Given the description of an element on the screen output the (x, y) to click on. 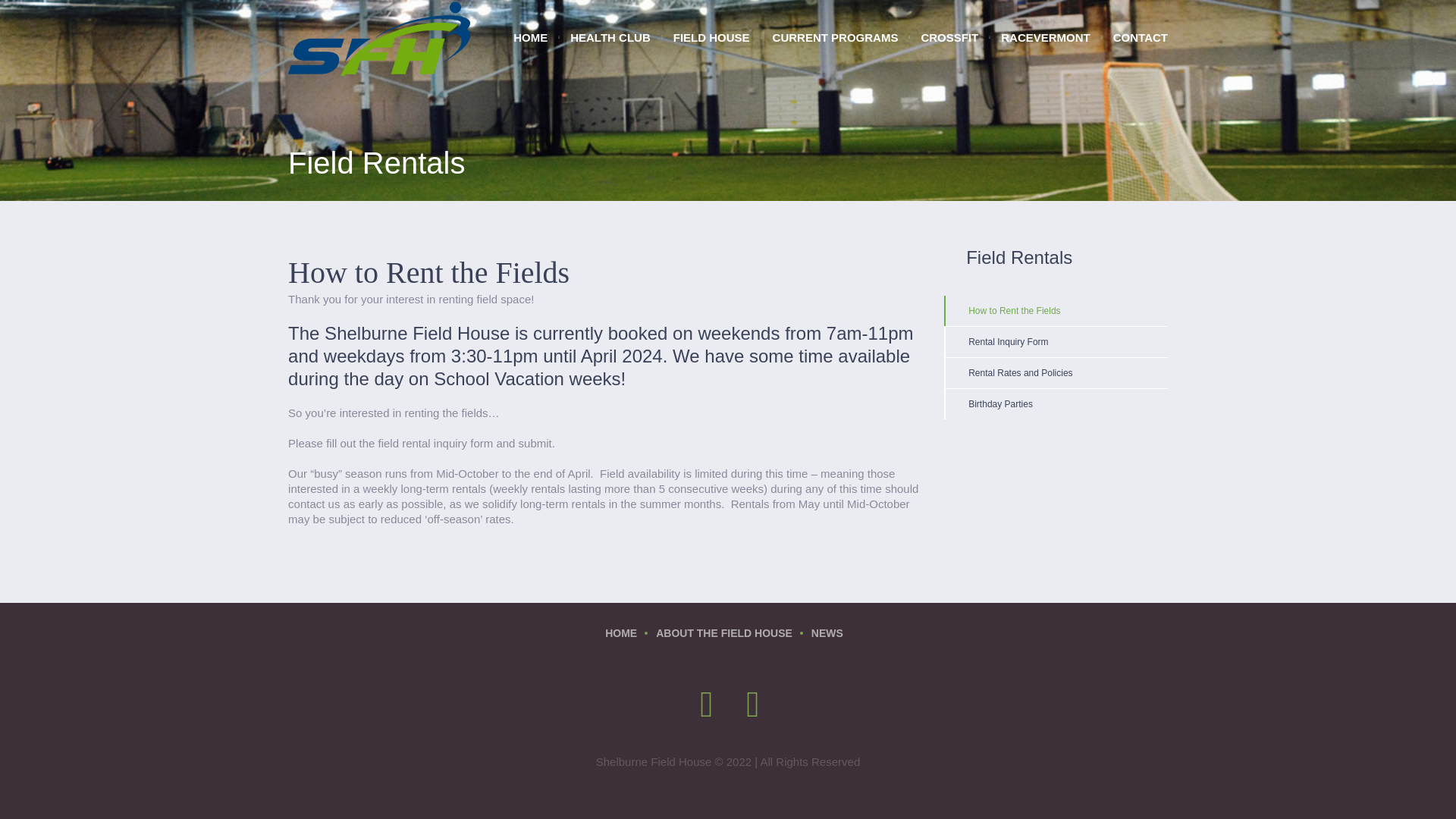
CONTACT (1134, 37)
FIELD HOUSE (711, 37)
Rental Rates and Policies (1055, 372)
Facebook (754, 704)
Birthday Parties (1055, 403)
Twitter (707, 704)
CURRENT PROGRAMS (835, 37)
How to Rent the Fields (1055, 310)
ABOUT THE FIELD HOUSE (724, 632)
RACEVERMONT (1046, 37)
NEWS (826, 632)
CROSSFIT (949, 37)
Rental Inquiry Form (1055, 341)
HOME (621, 632)
HEALTH CLUB (610, 37)
